Given the description of an element on the screen output the (x, y) to click on. 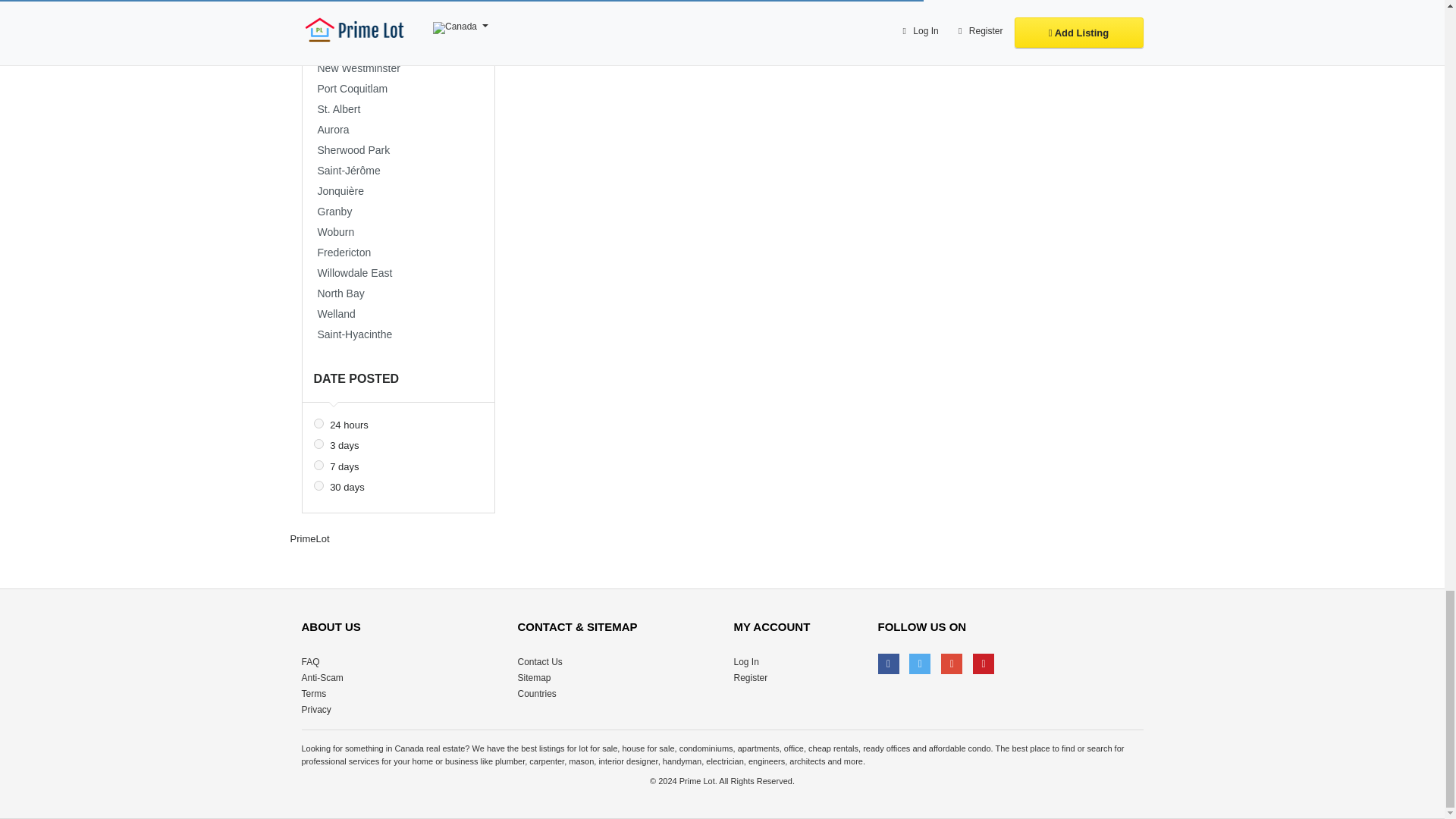
8 (318, 465)
2 (318, 423)
4 (318, 443)
31 (318, 485)
